Given the description of an element on the screen output the (x, y) to click on. 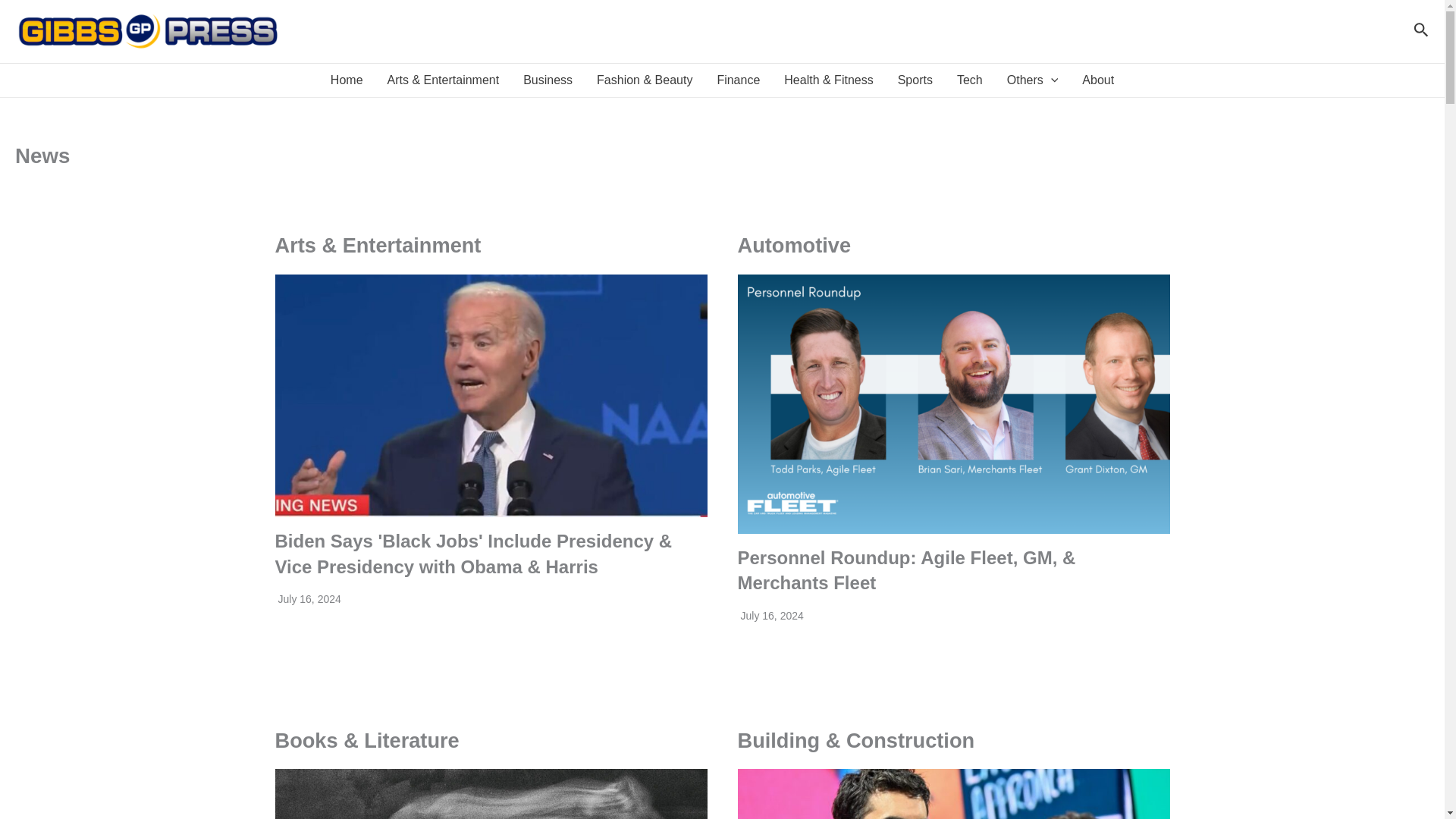
Home (346, 80)
Tech (969, 80)
About (1097, 80)
Business (548, 80)
Sports (914, 80)
Finance (737, 80)
Others (1032, 80)
